Given the description of an element on the screen output the (x, y) to click on. 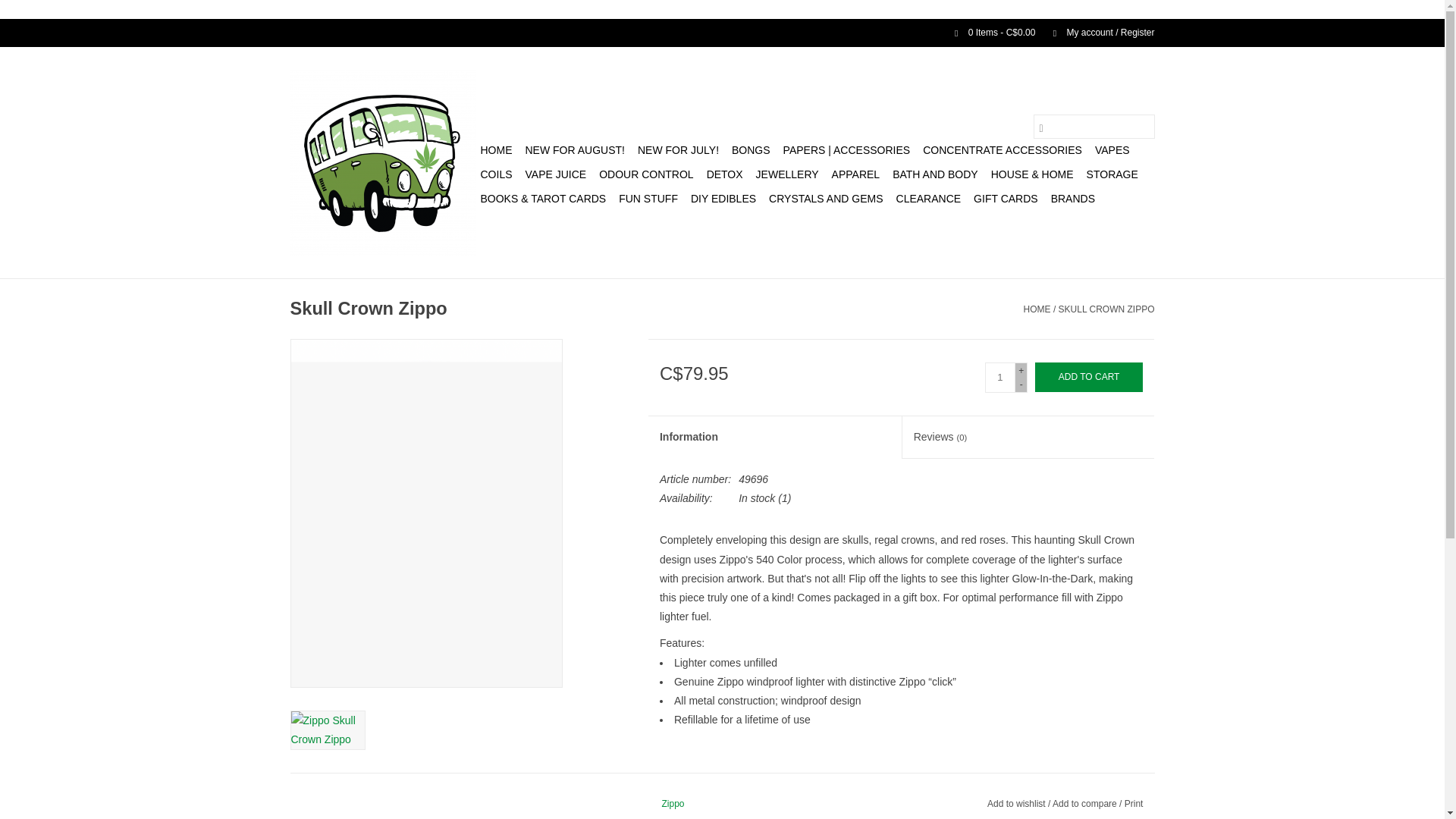
NEW FOR AUGUST! (573, 150)
NEW FOR JULY! (678, 150)
NEW for August! (573, 150)
HOME (496, 150)
Bongs (750, 150)
My account (1096, 32)
NEW for July! (678, 150)
BONGS (750, 150)
Cart (988, 32)
1 (999, 377)
